Given the description of an element on the screen output the (x, y) to click on. 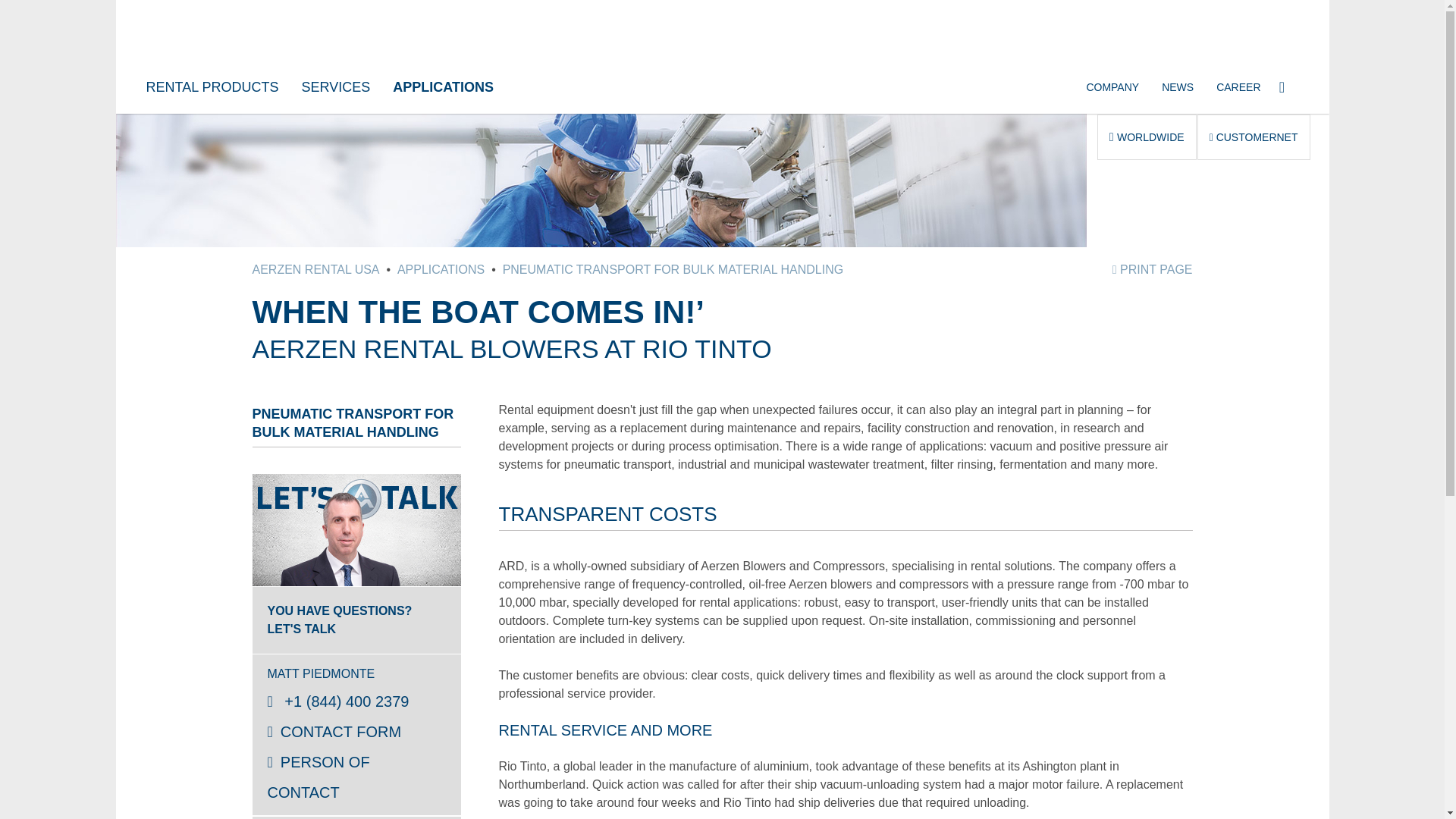
AERZEN RENTAL USA (314, 269)
APPLICATIONS (443, 86)
Rental products (212, 86)
CUSTOMERNET (1253, 136)
News (1177, 86)
APPLICATIONS (440, 269)
NEWS (1177, 86)
SERVICES (335, 86)
RENTAL PRODUCTS (212, 86)
CAREER (1238, 86)
with ideas, passion and initiative (1238, 86)
Company (1112, 86)
PNEUMATIC TRANSPORT FOR BULK MATERIAL HANDLING (673, 269)
Services (335, 86)
